Given the description of an element on the screen output the (x, y) to click on. 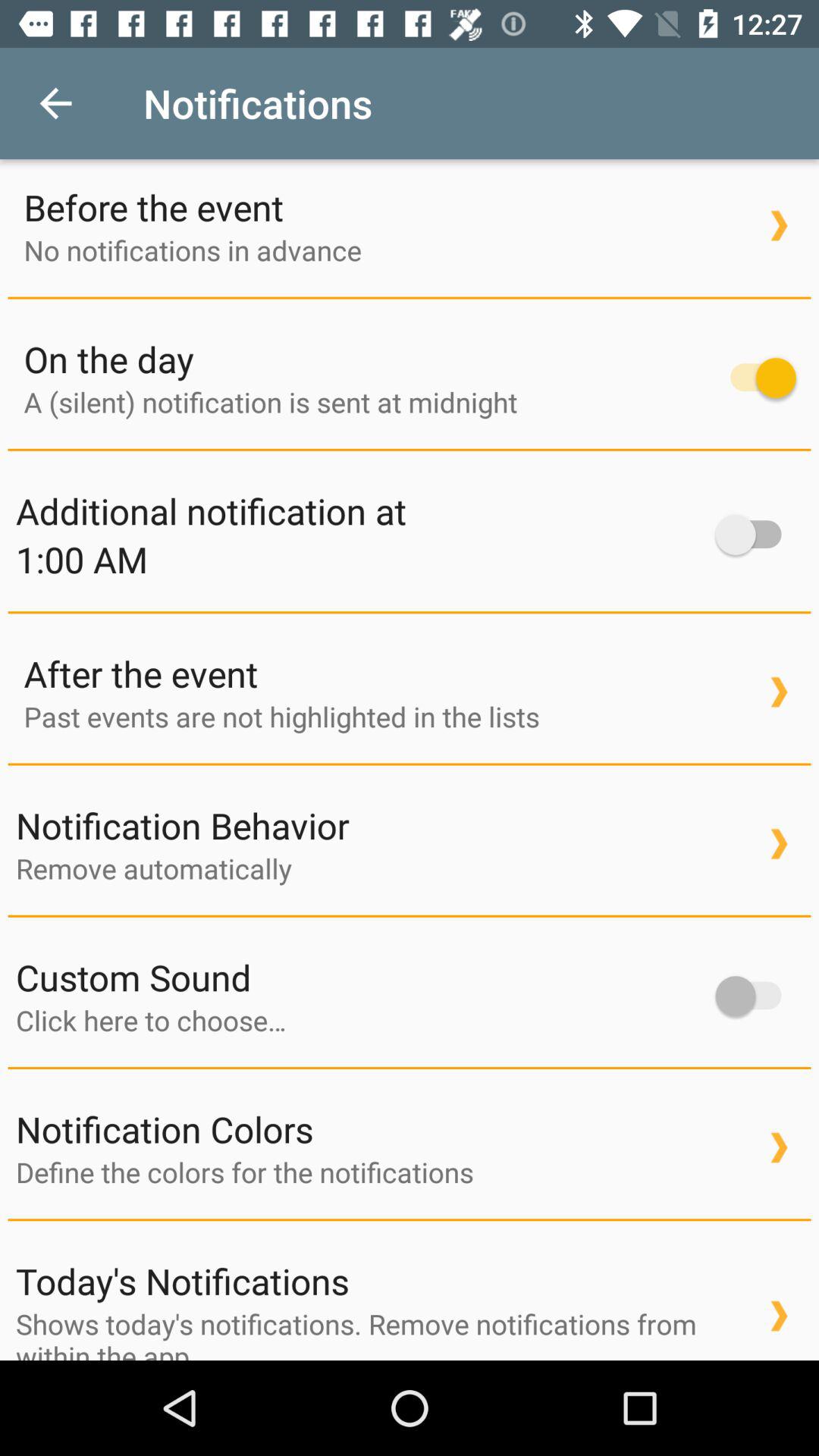
disable notification (755, 377)
